Given the description of an element on the screen output the (x, y) to click on. 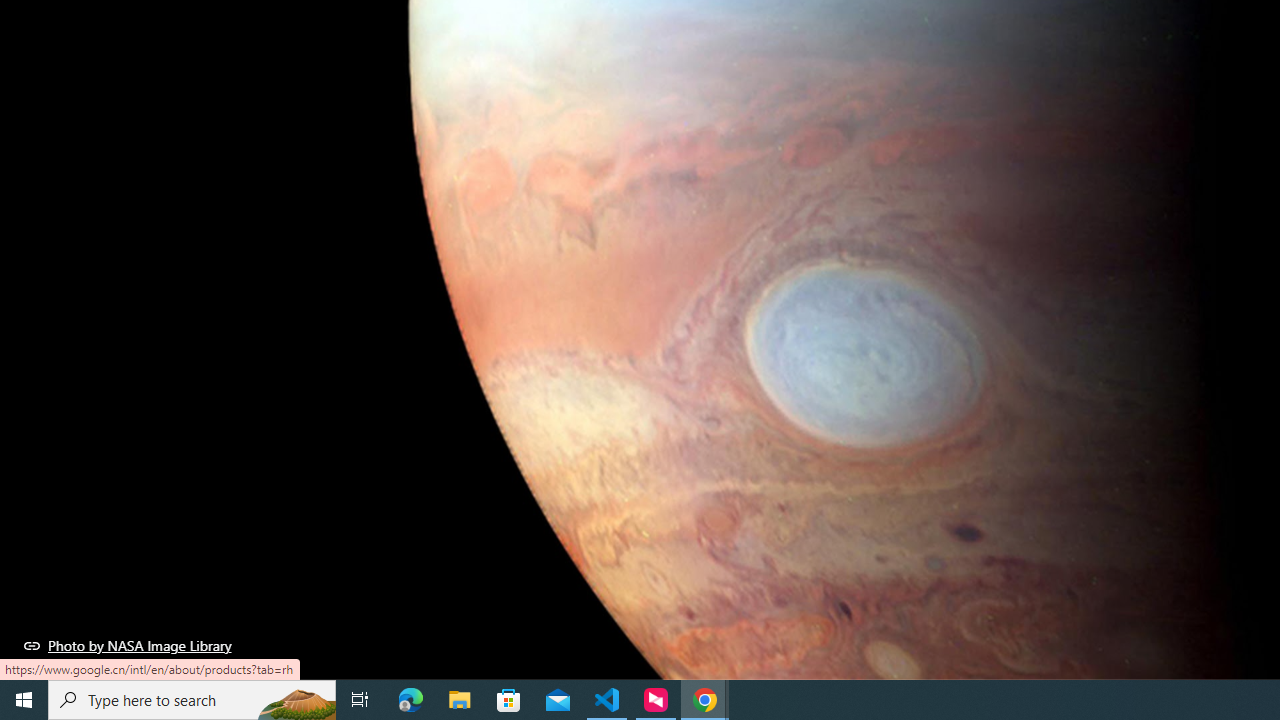
Photo by NASA Image Library (127, 645)
